Given the description of an element on the screen output the (x, y) to click on. 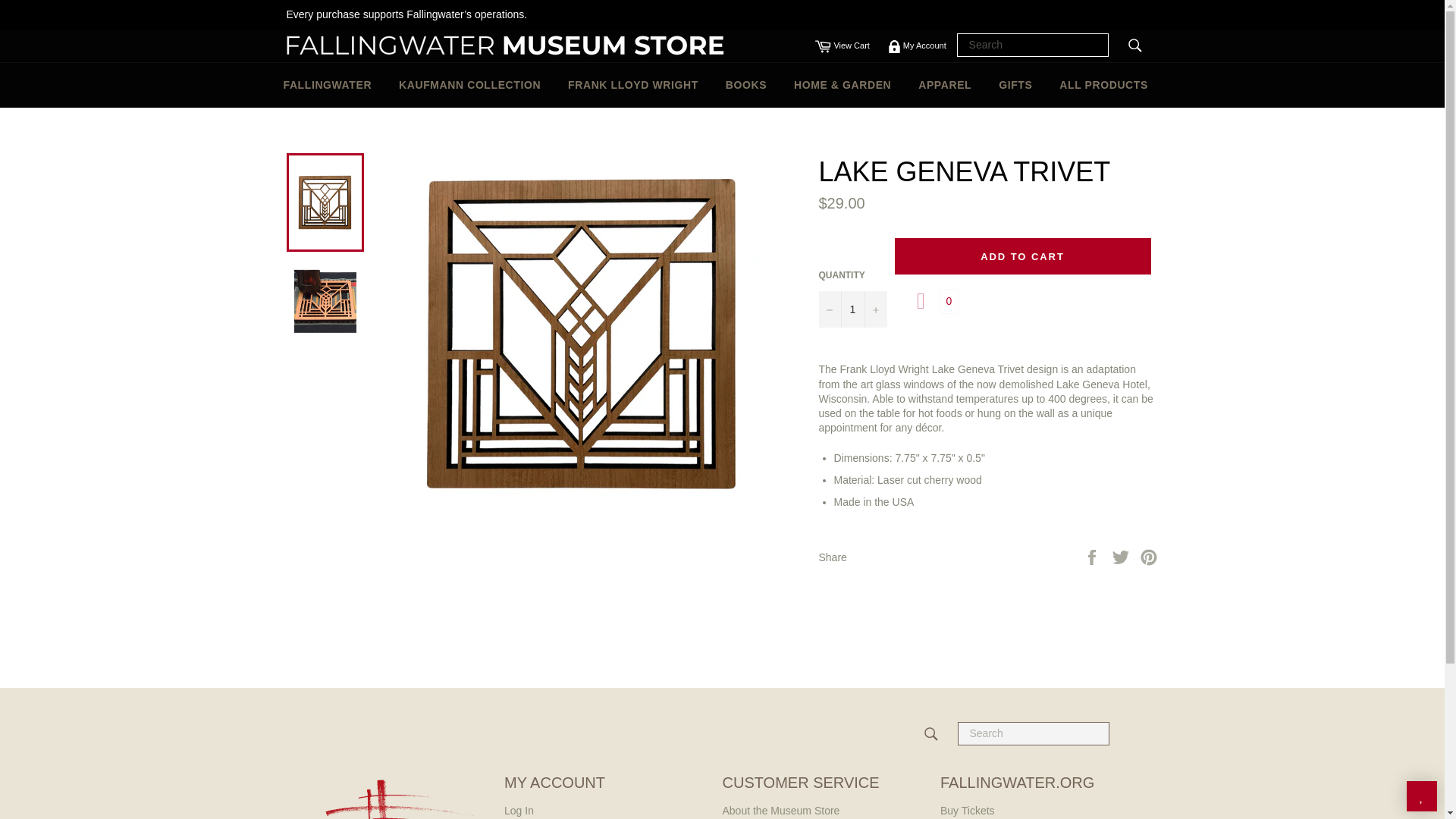
Log In (518, 810)
Search (931, 734)
Tweet on Twitter (1122, 556)
ADD TO CART (1023, 256)
1 (852, 309)
Share on Facebook (1093, 556)
Share on Facebook (841, 46)
ALL PRODUCTS (1093, 556)
FALLINGWATER (1103, 85)
APPAREL (327, 85)
FRANK LLOYD WRIGHT (944, 85)
GIFTS (633, 85)
Pin on Pinterest (1015, 85)
KAUFMANN COLLECTION (1148, 556)
